Given the description of an element on the screen output the (x, y) to click on. 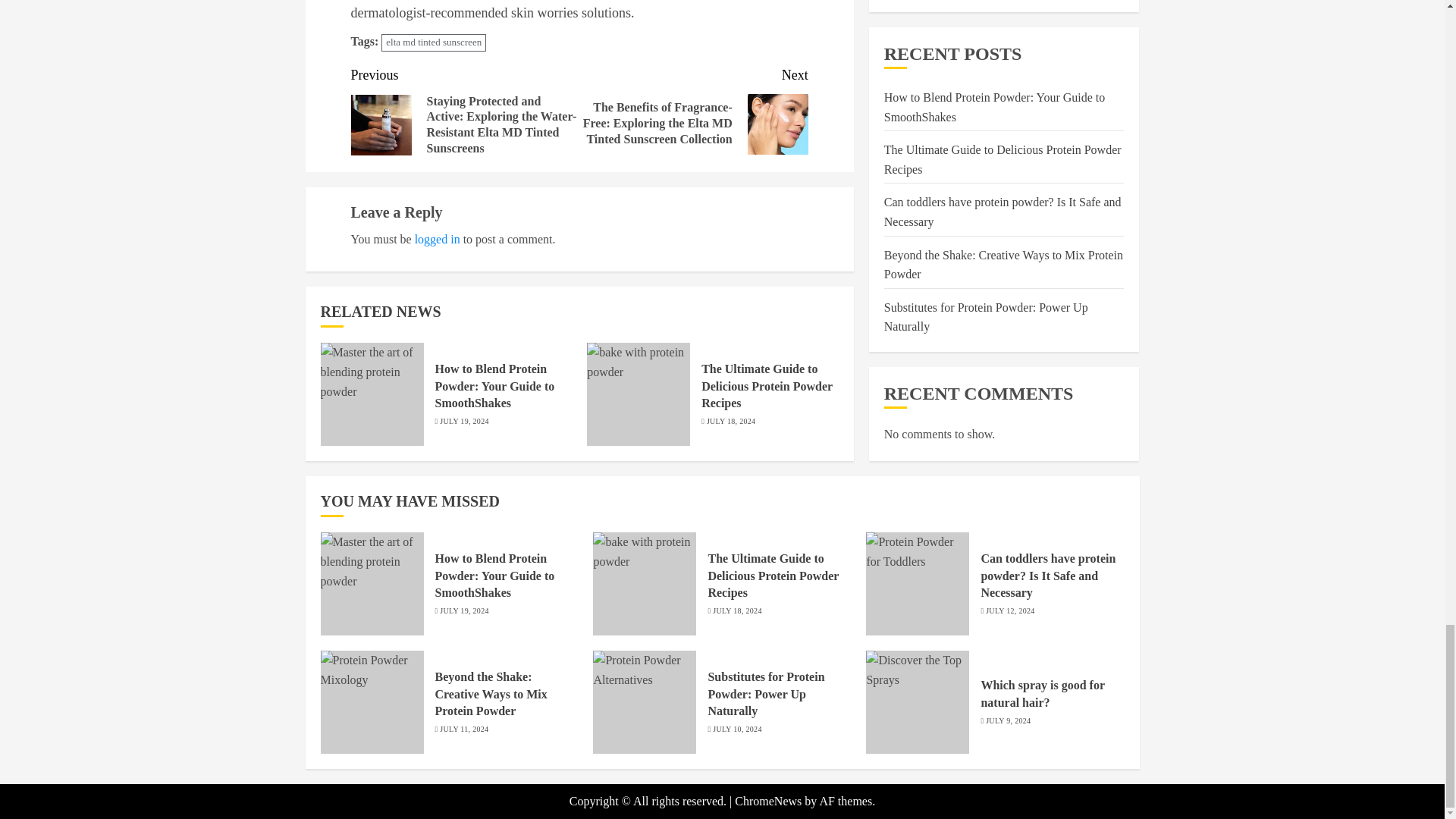
How to Blend Protein Powder: Your Guide to SmoothShakes (494, 386)
elta md tinted sunscreen (433, 42)
JULY 19, 2024 (463, 421)
The Ultimate Guide to Delicious Protein Powder Recipes (766, 386)
How to Blend Protein Powder: Your Guide to SmoothShakes (494, 575)
JULY 18, 2024 (730, 421)
logged in (437, 238)
